Given the description of an element on the screen output the (x, y) to click on. 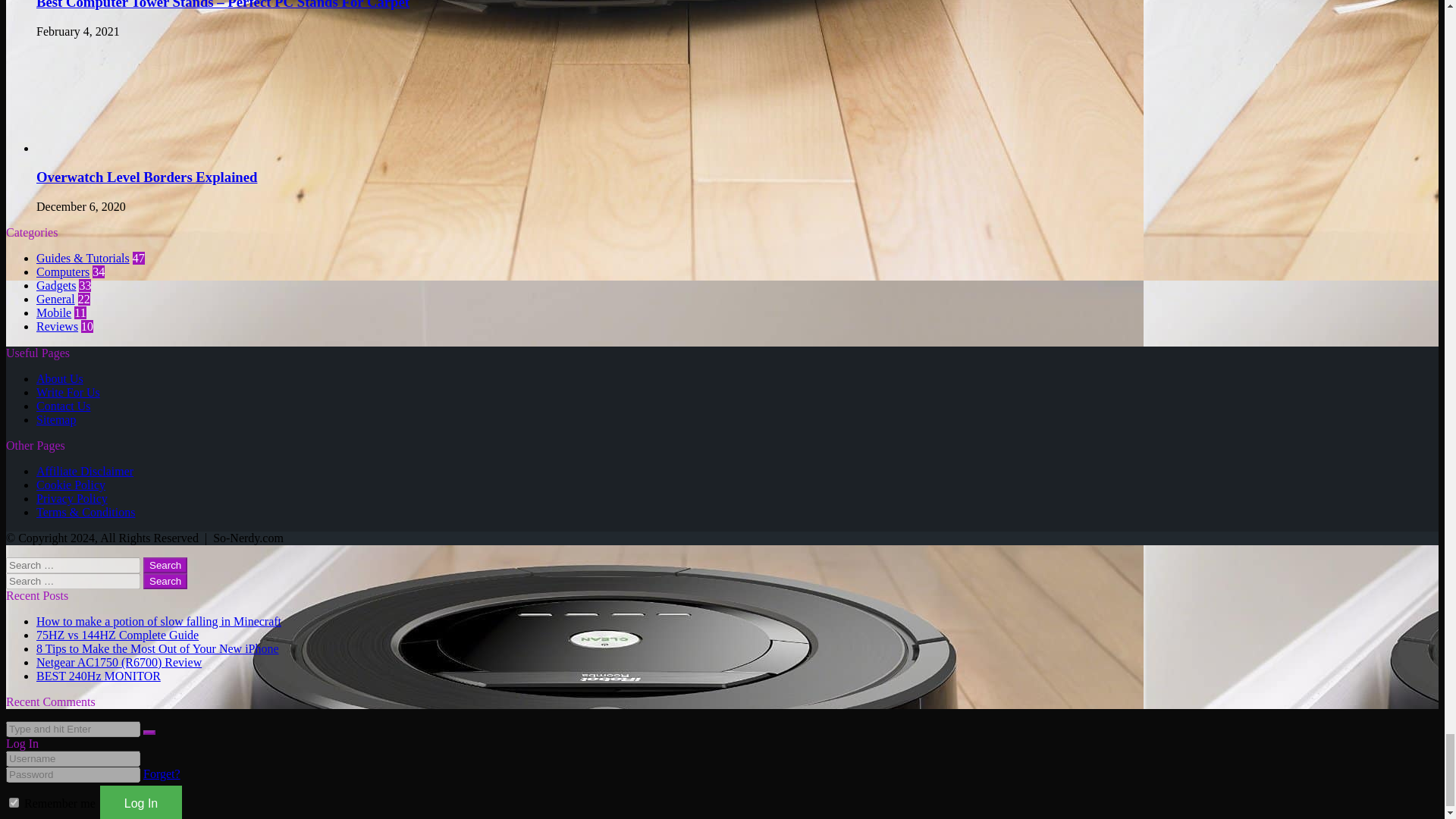
Password (72, 774)
Search (164, 580)
Search (164, 565)
Username (72, 758)
Search (164, 565)
Search (164, 580)
forever (13, 802)
Search for (72, 729)
